Given the description of an element on the screen output the (x, y) to click on. 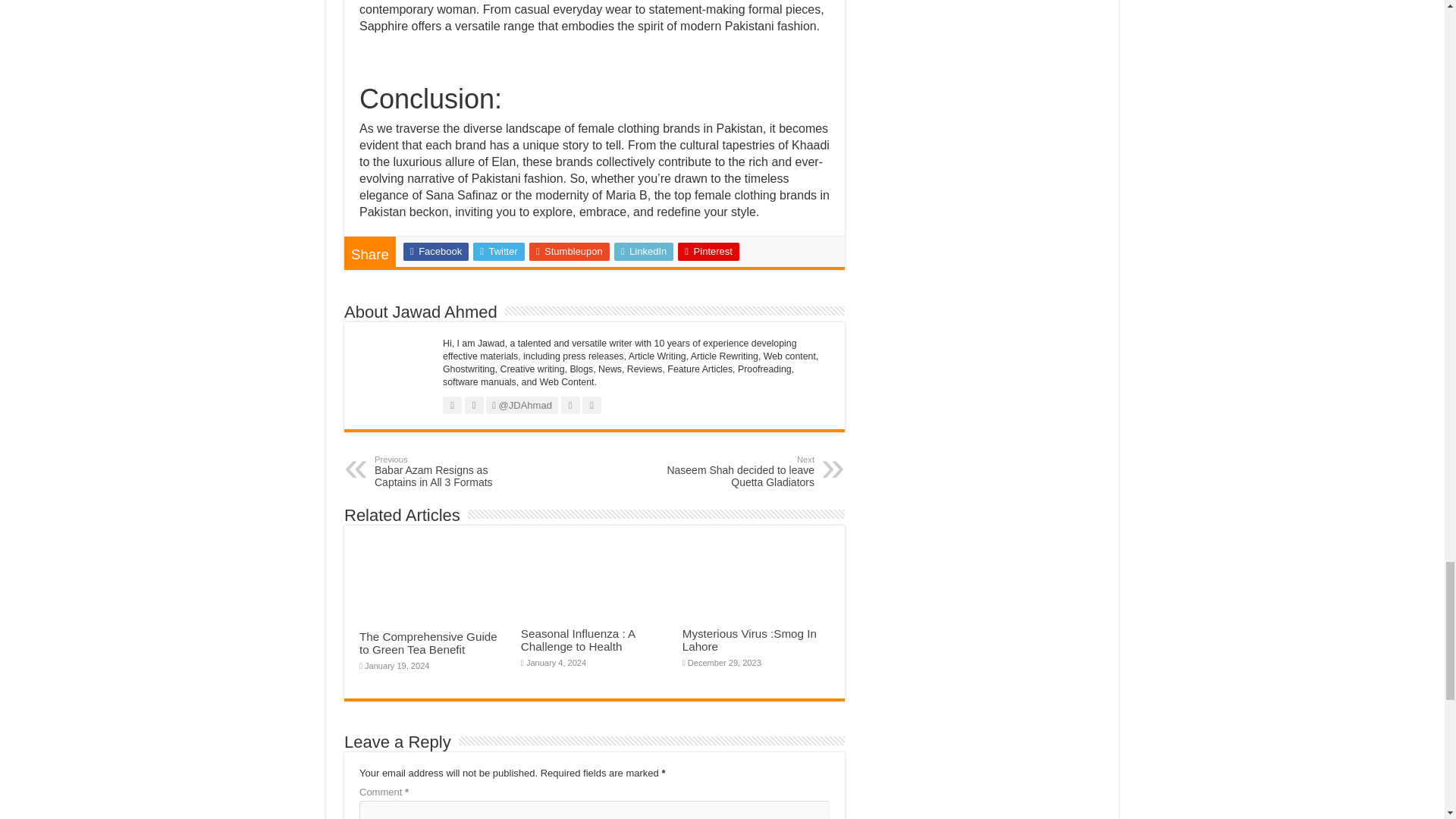
Pinterest (451, 471)
Stumbleupon (736, 471)
LinkedIn (708, 251)
Facebook (569, 251)
Twitter (644, 251)
